Given the description of an element on the screen output the (x, y) to click on. 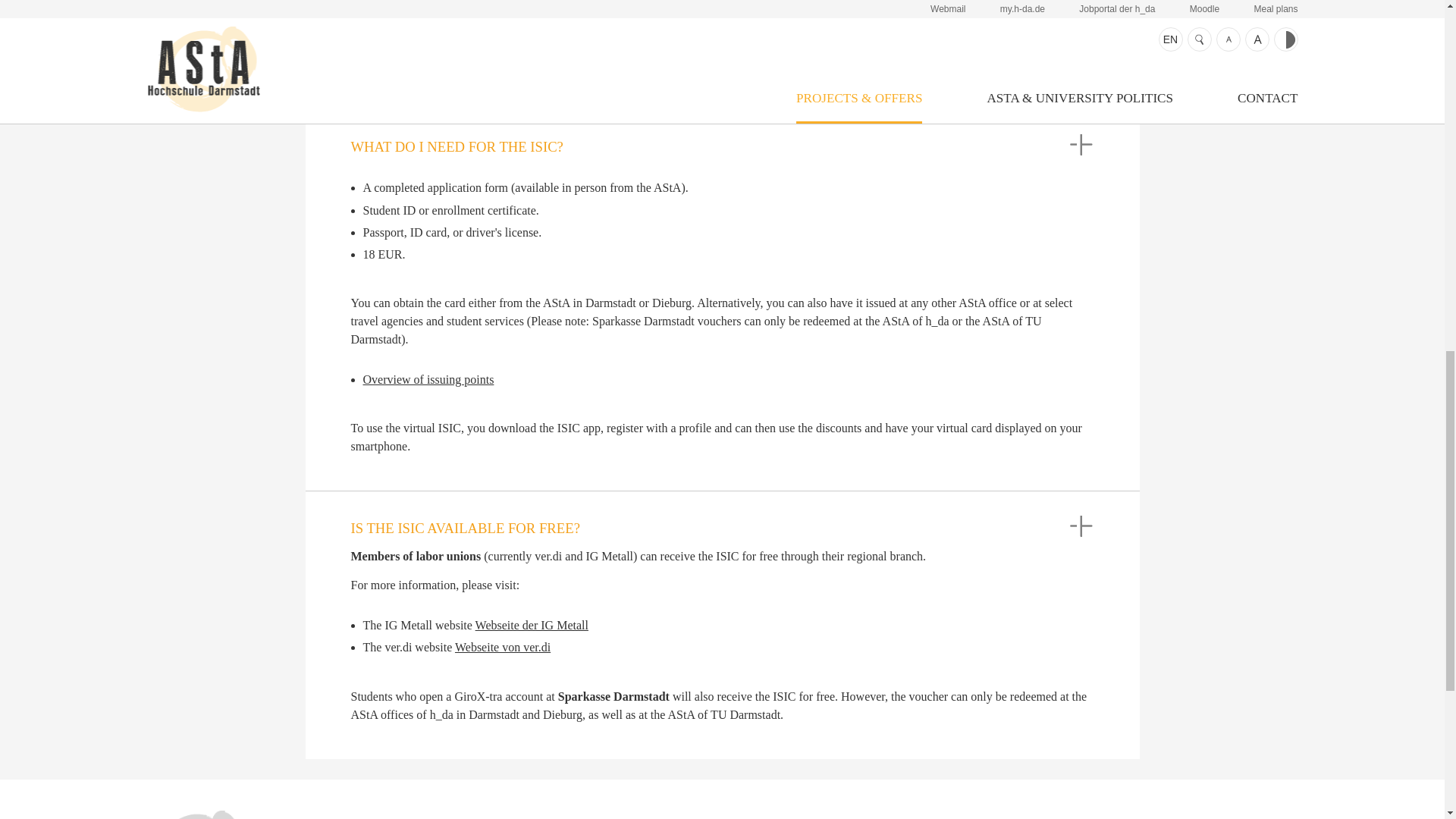
Overview of issuing points (427, 379)
Webseite der IG Metall (532, 625)
Webseite von ver.di (502, 646)
